Given the description of an element on the screen output the (x, y) to click on. 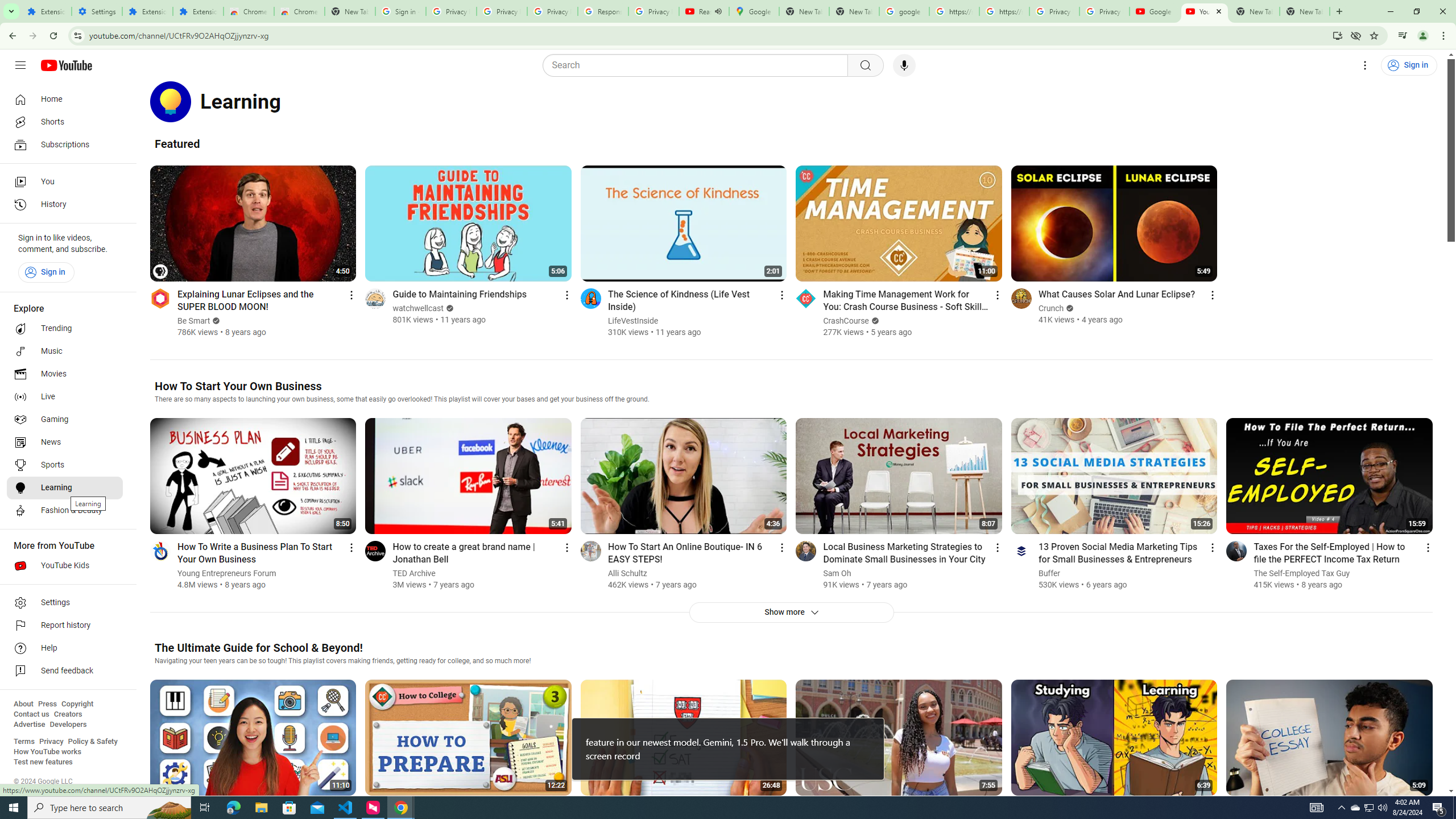
Copyright (77, 703)
Policy & Safety (91, 741)
Show more (790, 611)
About (23, 703)
Young Entrepreneurs Forum (226, 573)
LifeVestInside (633, 320)
Home (64, 99)
Sam Oh (836, 573)
